Given the description of an element on the screen output the (x, y) to click on. 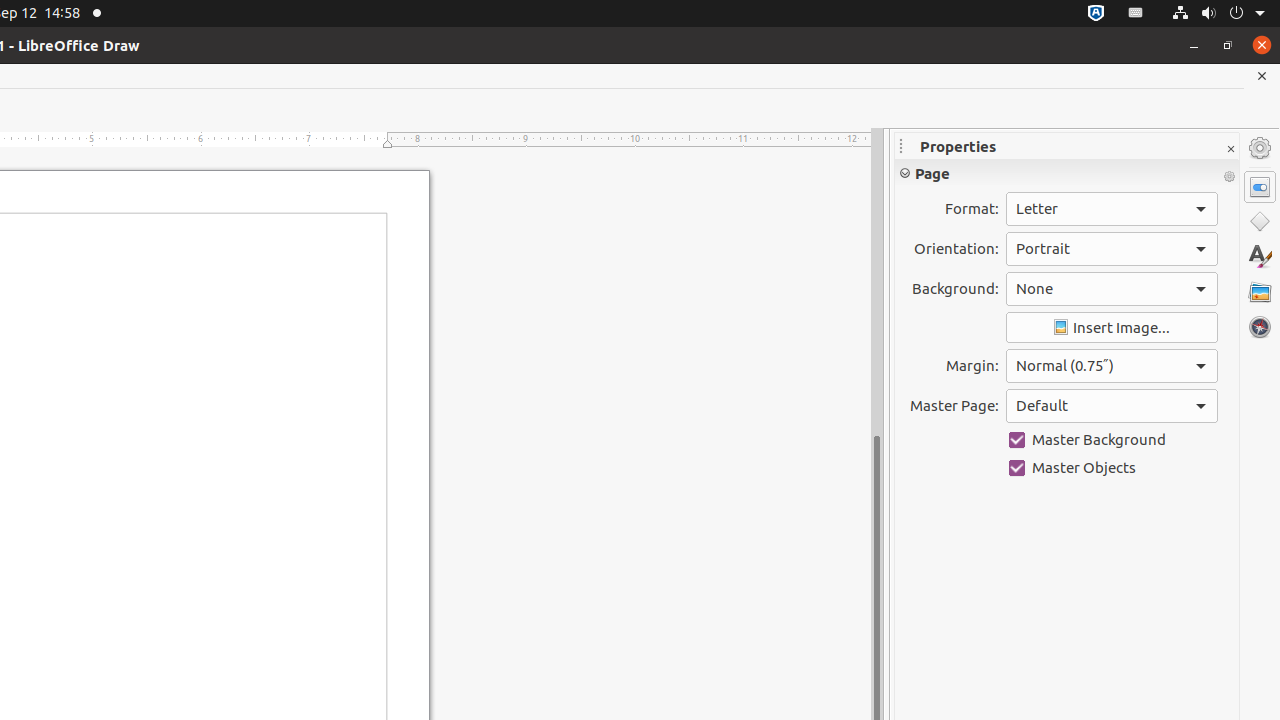
Gallery Element type: radio-button (1260, 292)
Master Objects Element type: check-box (1112, 468)
:1.21/StatusNotifierItem Element type: menu (1136, 13)
Shapes Element type: radio-button (1260, 222)
Background: Element type: combo-box (1112, 289)
